Given the description of an element on the screen output the (x, y) to click on. 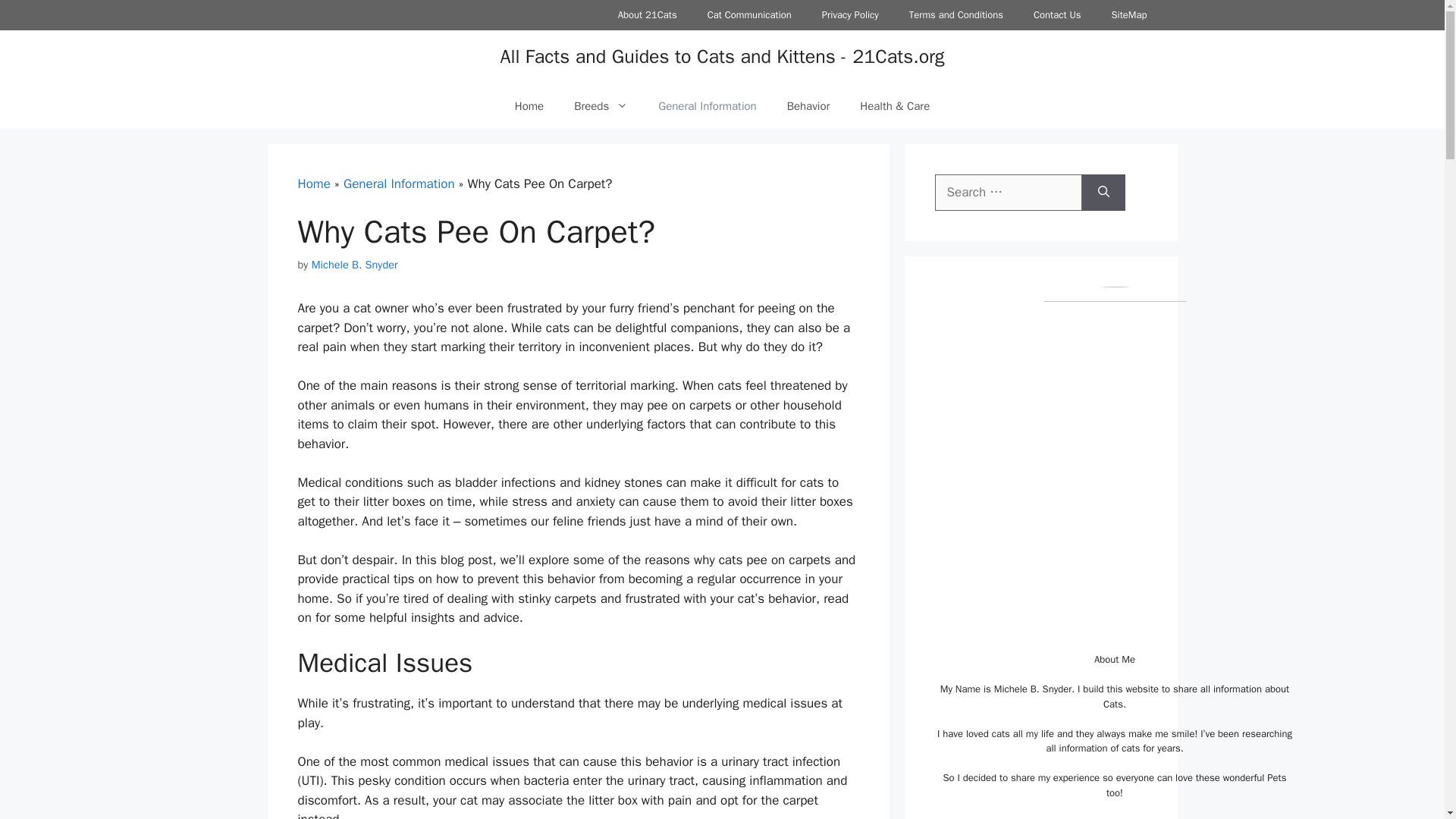
All Facts and Guides to Cats and Kittens - 21Cats.org (721, 56)
Home (529, 105)
About 21Cats (647, 15)
Privacy Policy (849, 15)
Michele B. Snyder (354, 264)
General Information (398, 183)
Search for: (1007, 192)
General Information (707, 105)
Cat Communication (749, 15)
Breeds (601, 105)
